Given the description of an element on the screen output the (x, y) to click on. 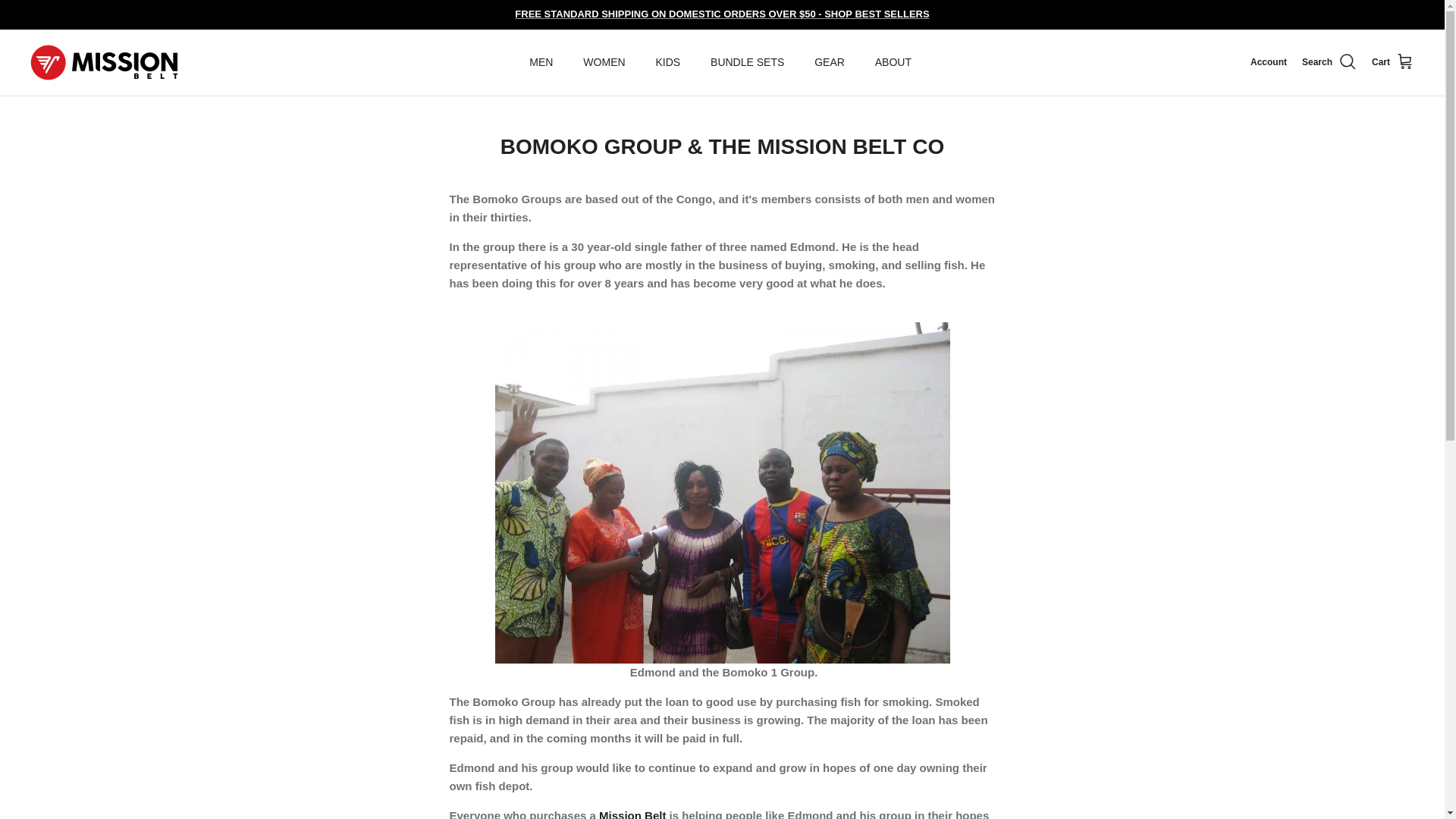
Search (1328, 62)
WOMEN (604, 61)
GEAR (829, 61)
Cart (1392, 62)
BUNDLE SETS (747, 61)
Best Sellers (721, 13)
KIDS (668, 61)
Account (1268, 62)
MEN (540, 61)
Vader Black Belt (631, 814)
